Given the description of an element on the screen output the (x, y) to click on. 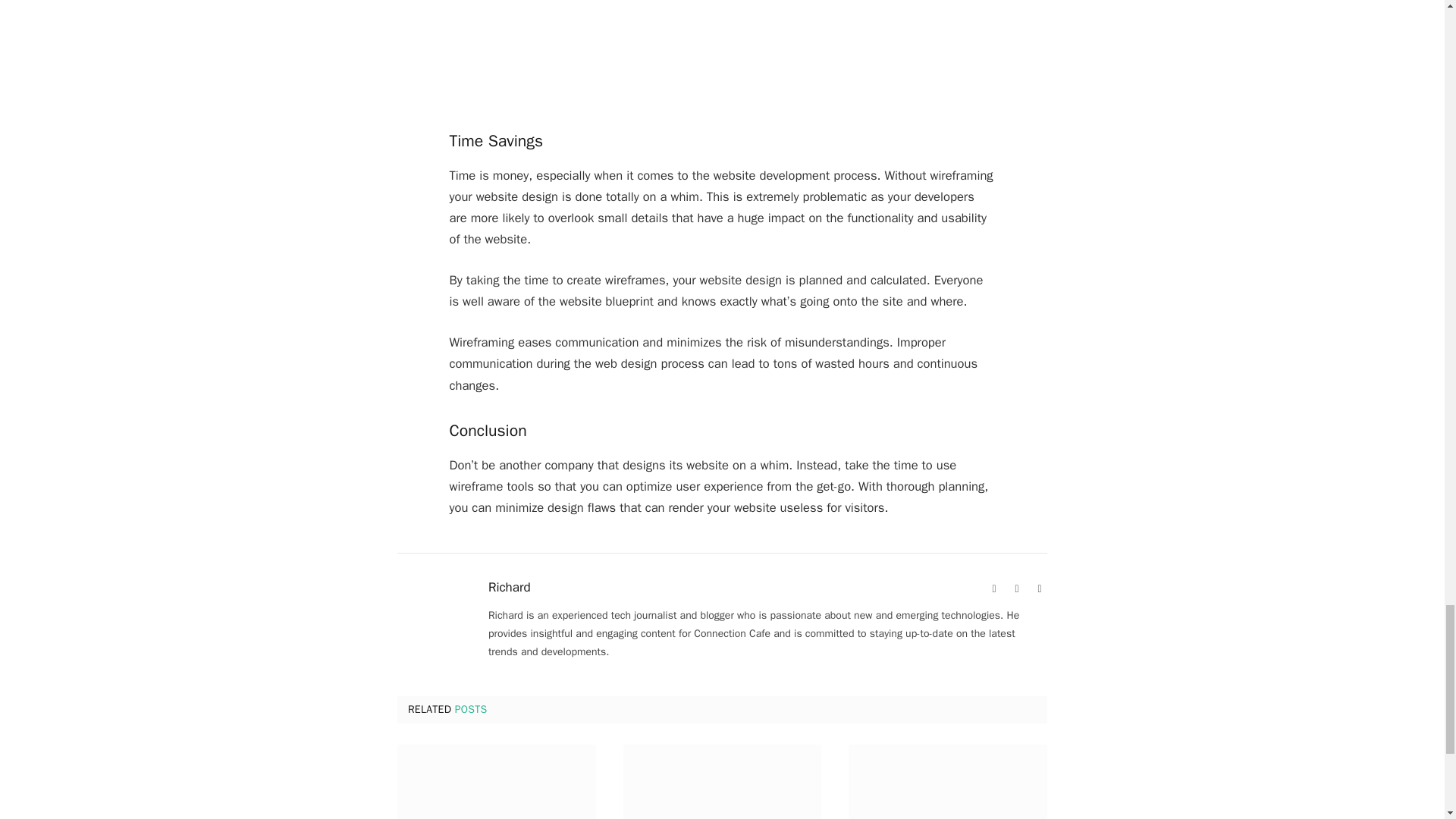
5 Reasons Why a Domain Might Be Unavailable (947, 781)
Website (994, 589)
Twitter (1039, 589)
Facebook (1017, 589)
Posts by Richard (509, 587)
Different Telegram Apps and Clients for Android (722, 781)
